Given the description of an element on the screen output the (x, y) to click on. 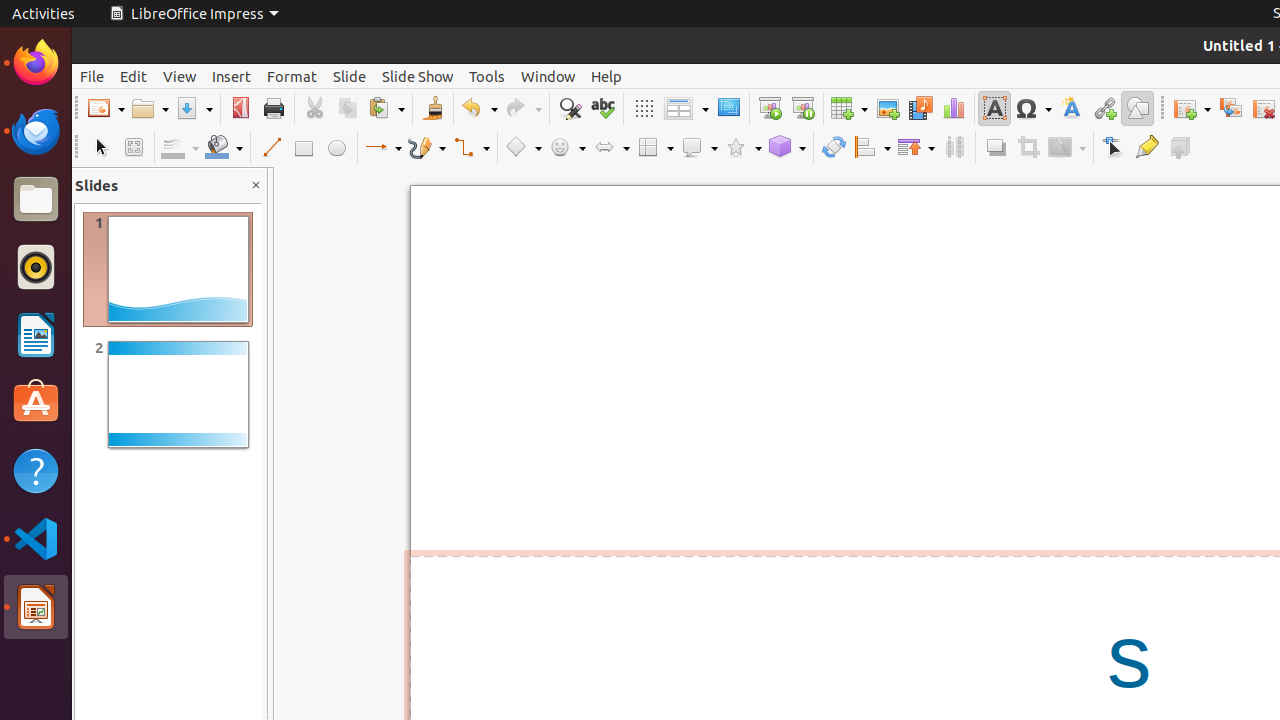
Toggle Extrusion Element type: push-button (1179, 147)
Arrow Shapes Element type: push-button (611, 147)
Print Element type: push-button (273, 108)
Distribution Element type: push-button (954, 147)
Edit Points Element type: push-button (1113, 147)
